Given the description of an element on the screen output the (x, y) to click on. 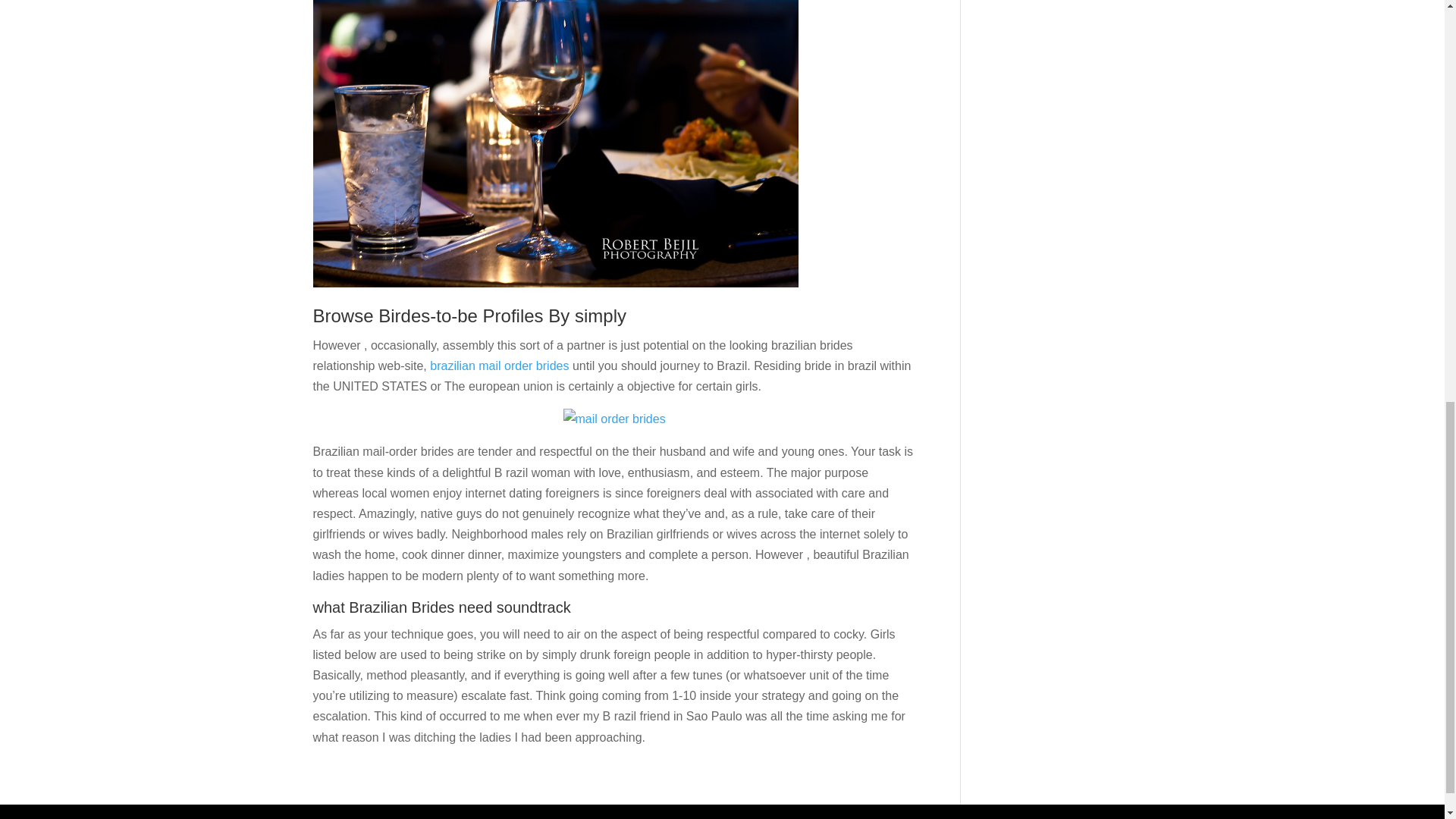
brazilian mail order brides (499, 365)
